Given the description of an element on the screen output the (x, y) to click on. 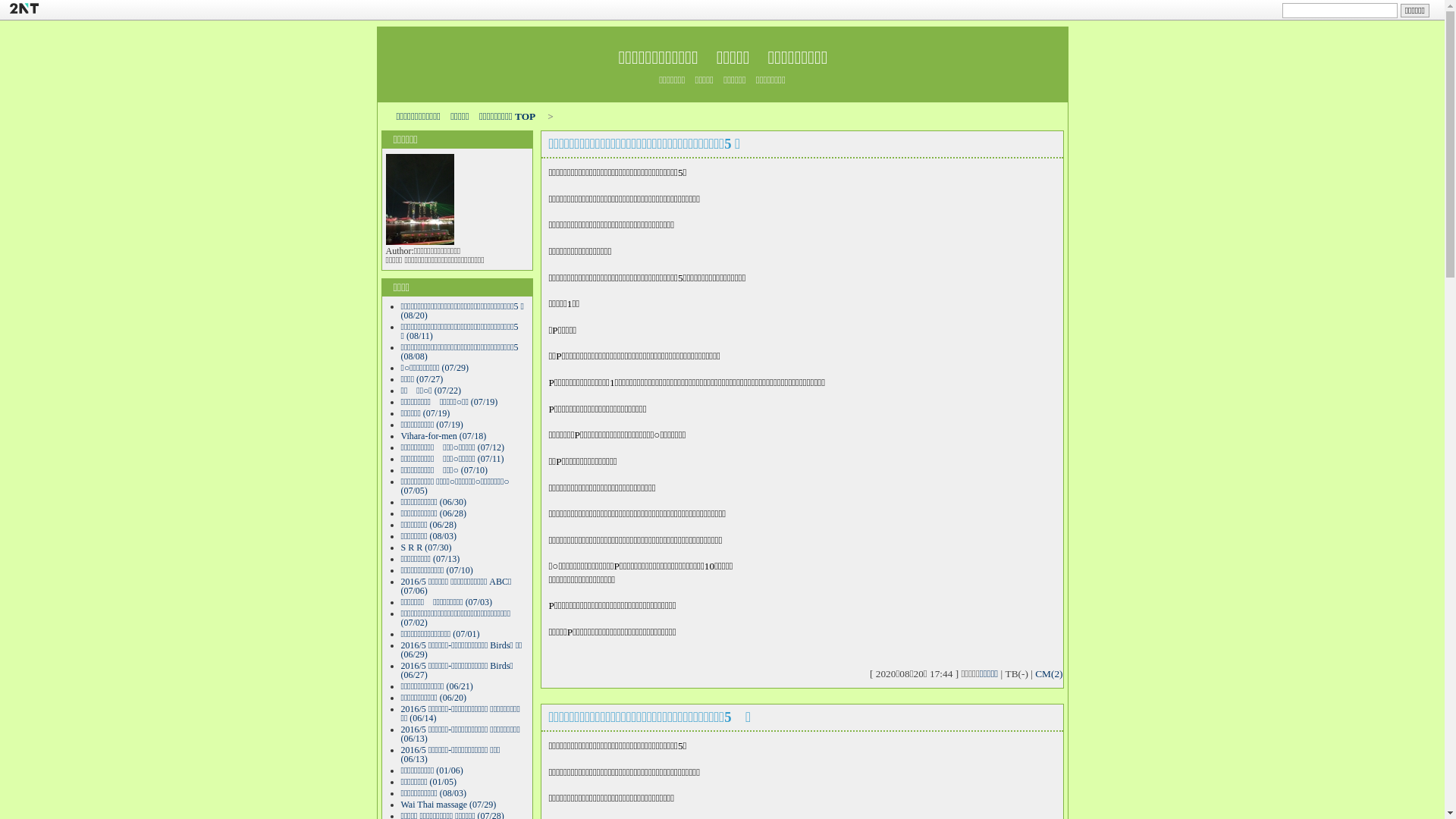
CM(2) Element type: text (1048, 673)
S R R (07/30) Element type: text (425, 547)
Vihara-for-men (07/18) Element type: text (443, 435)
Wai Thai massage (07/29) Element type: text (447, 804)
